Given the description of an element on the screen output the (x, y) to click on. 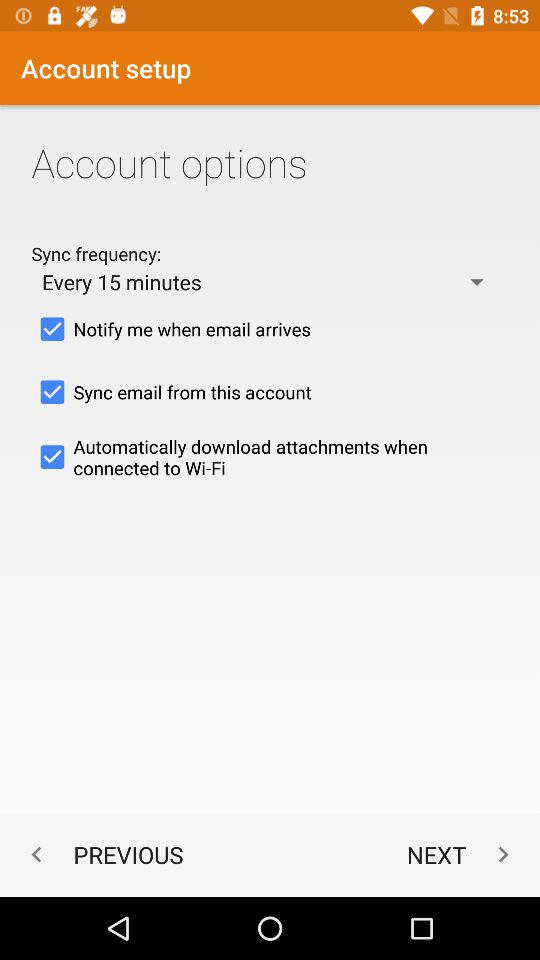
click icon to the left of next app (102, 854)
